Given the description of an element on the screen output the (x, y) to click on. 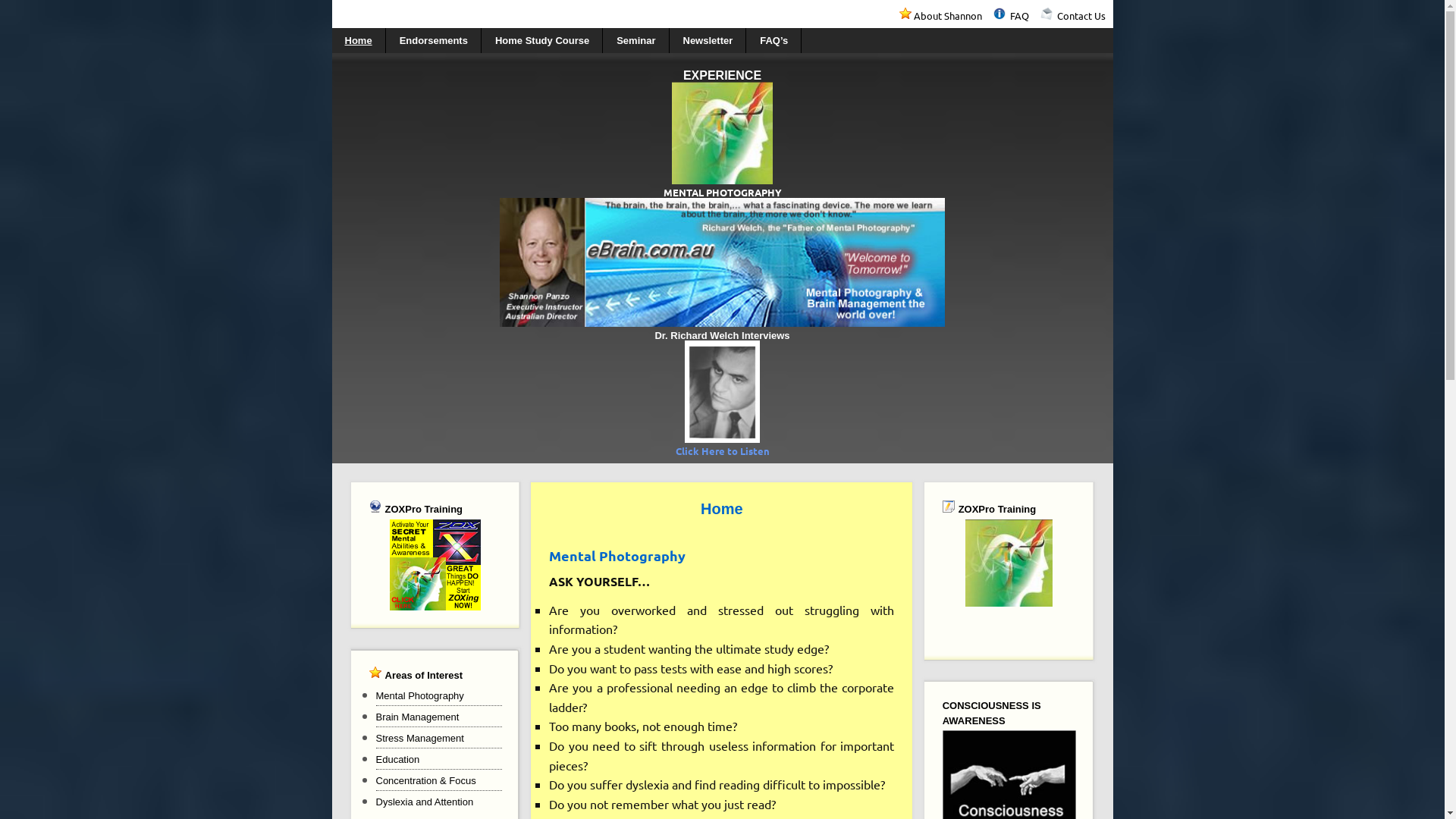
Education Element type: text (398, 759)
Stress Management Element type: text (420, 737)
Contact Us Element type: text (1081, 15)
Home Study Course Element type: text (542, 40)
Brain Management Element type: text (417, 716)
About Shannon      Element type: text (952, 15)
Home Element type: text (358, 40)
Click Here to Listen Element type: text (721, 449)
Mental Photography Element type: text (420, 695)
Concentration & Focus Element type: text (426, 780)
Newsletter Element type: text (708, 40)
FAQ      Element type: text (1025, 15)
Seminar Element type: text (635, 40)
Endorsements Element type: text (433, 40)
